Given the description of an element on the screen output the (x, y) to click on. 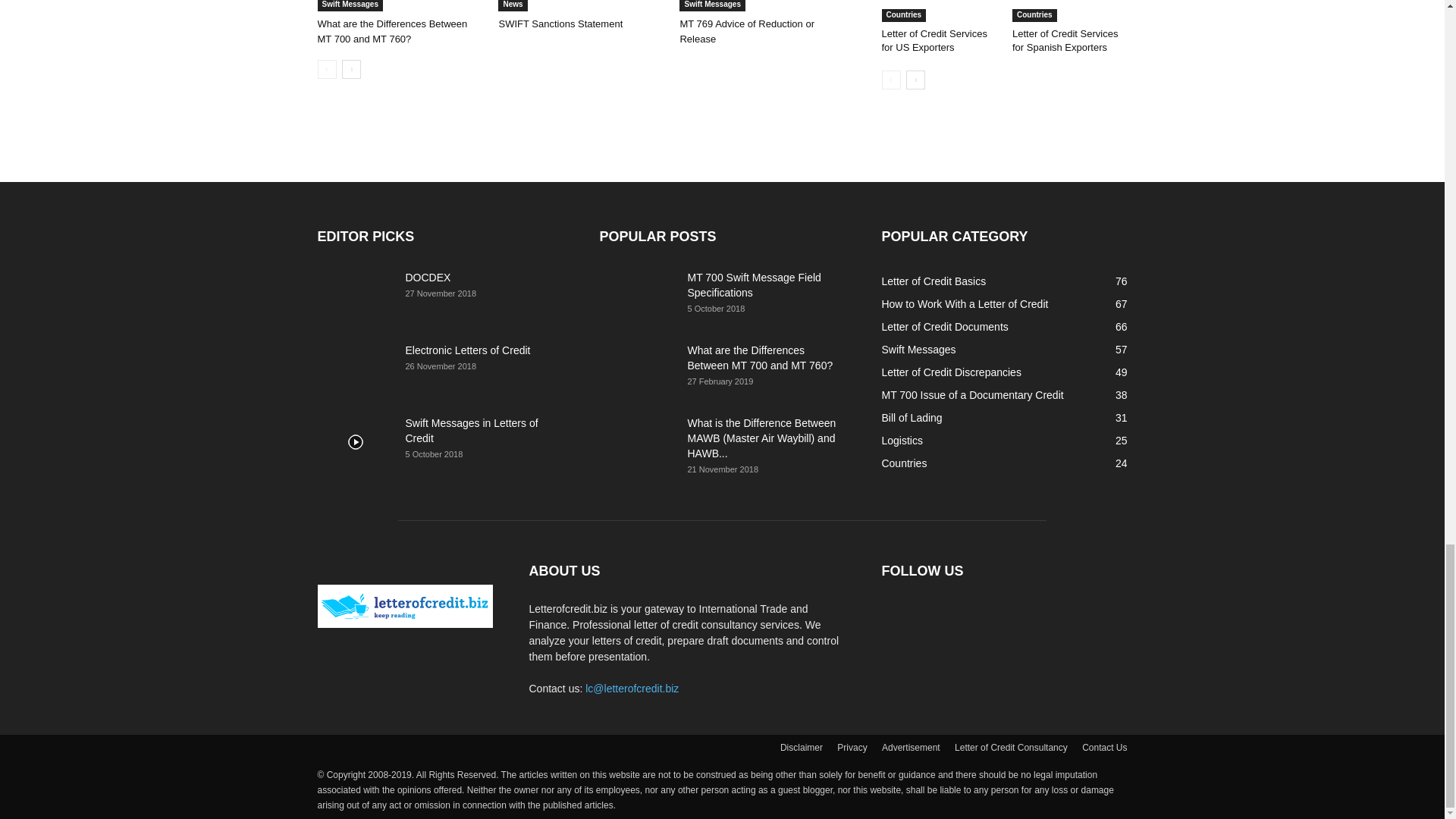
MT 769 Advice of Reduction or Release (746, 31)
What are the Differences Between MT 700 and MT 760? (392, 31)
SWIFT Sanctions Statement (580, 5)
MT 769 Advice of Reduction or Release (761, 5)
What are the Differences Between MT 700 and MT 760? (399, 5)
SWIFT Sanctions Statement (560, 23)
